Given the description of an element on the screen output the (x, y) to click on. 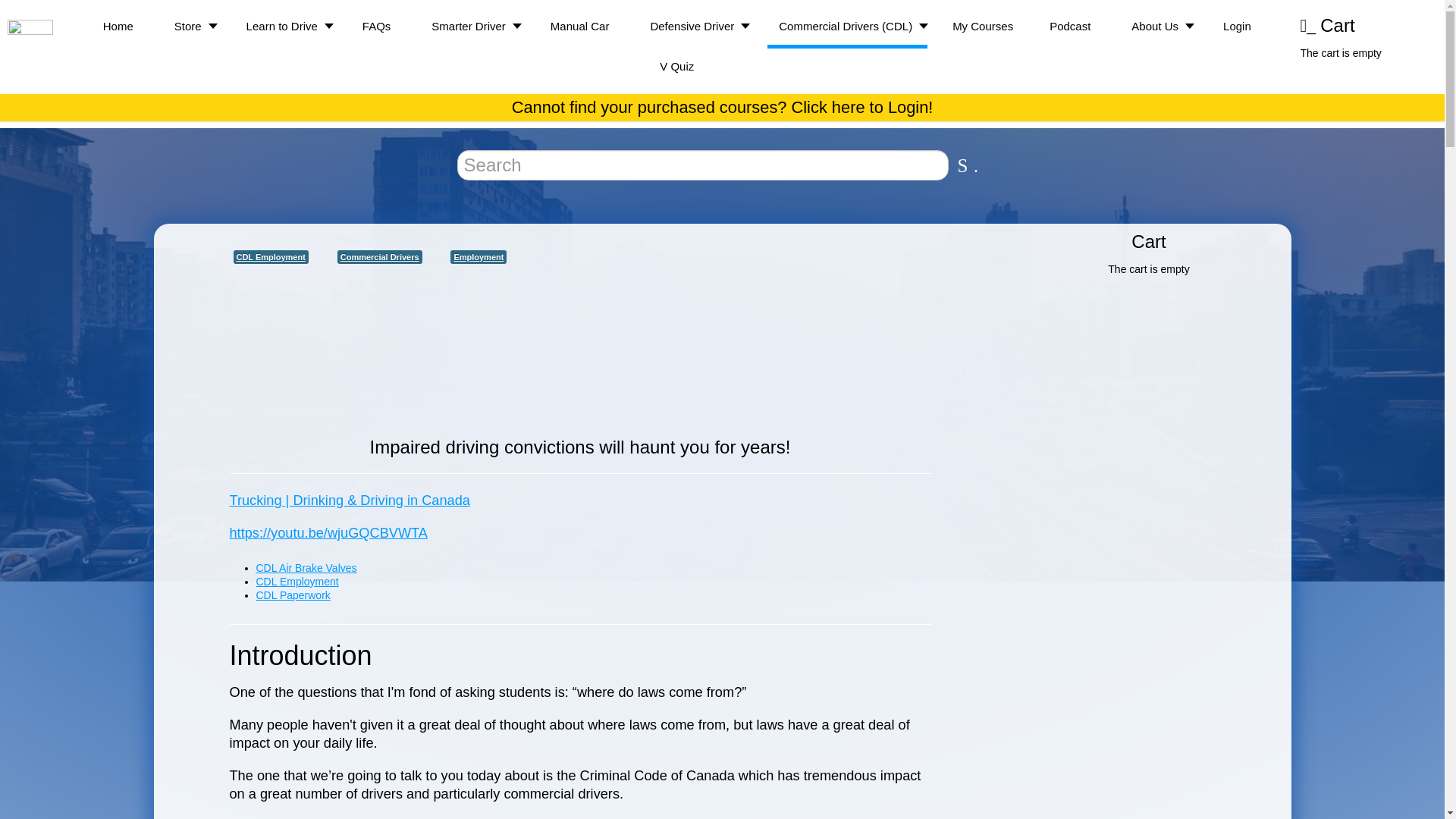
Home (117, 26)
Smarter Driver (470, 26)
Manual Car (579, 26)
Store (189, 26)
FAQs (376, 26)
Defensive Driver (694, 26)
Learn to Drive (283, 26)
